Given the description of an element on the screen output the (x, y) to click on. 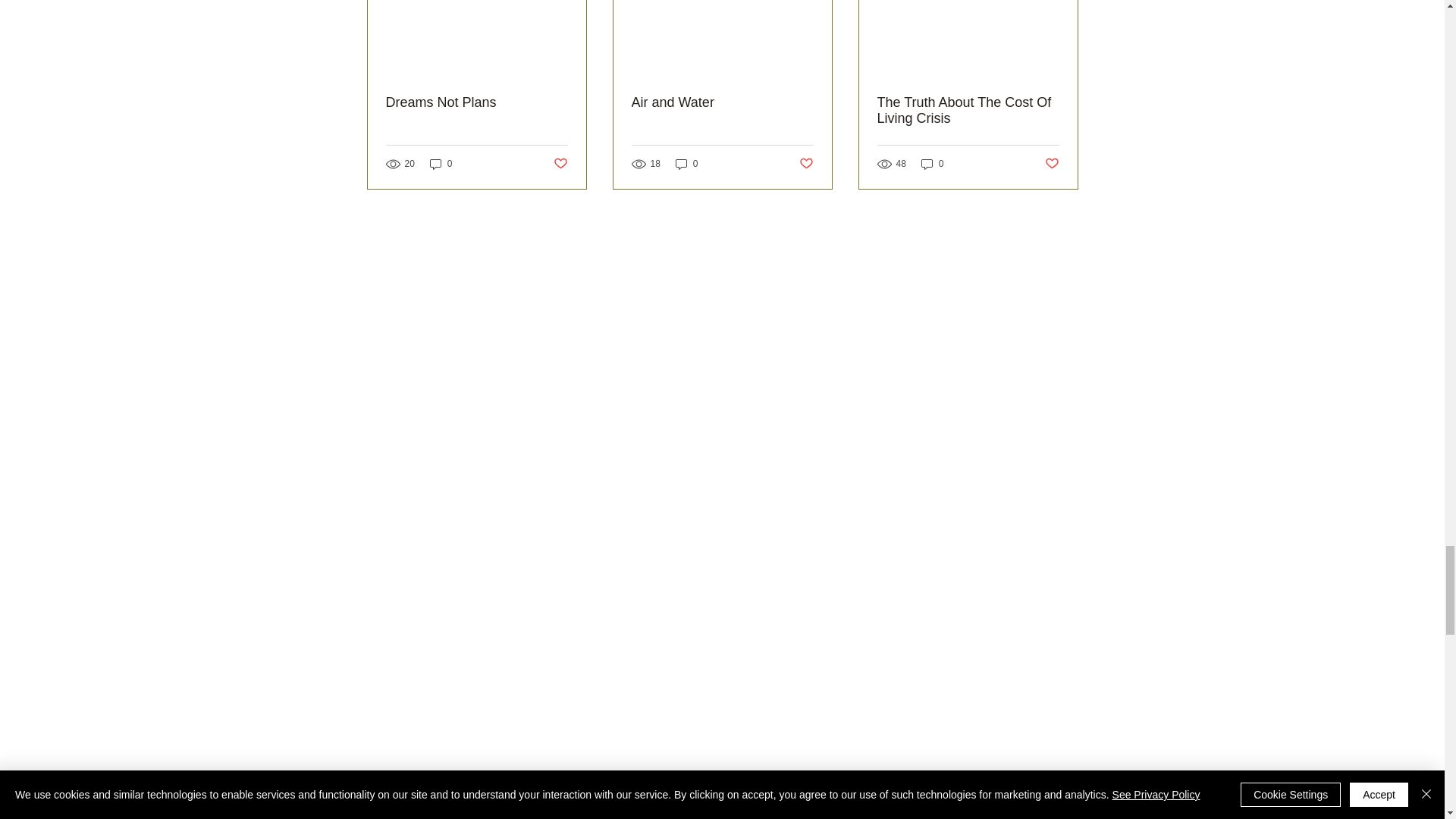
0 (932, 164)
Post not marked as liked (560, 163)
0 (441, 164)
Post not marked as liked (806, 163)
The Truth About The Cost Of Living Crisis (967, 110)
Air and Water (721, 102)
Post not marked as liked (1052, 163)
0 (687, 164)
Dreams Not Plans (476, 102)
